Given the description of an element on the screen output the (x, y) to click on. 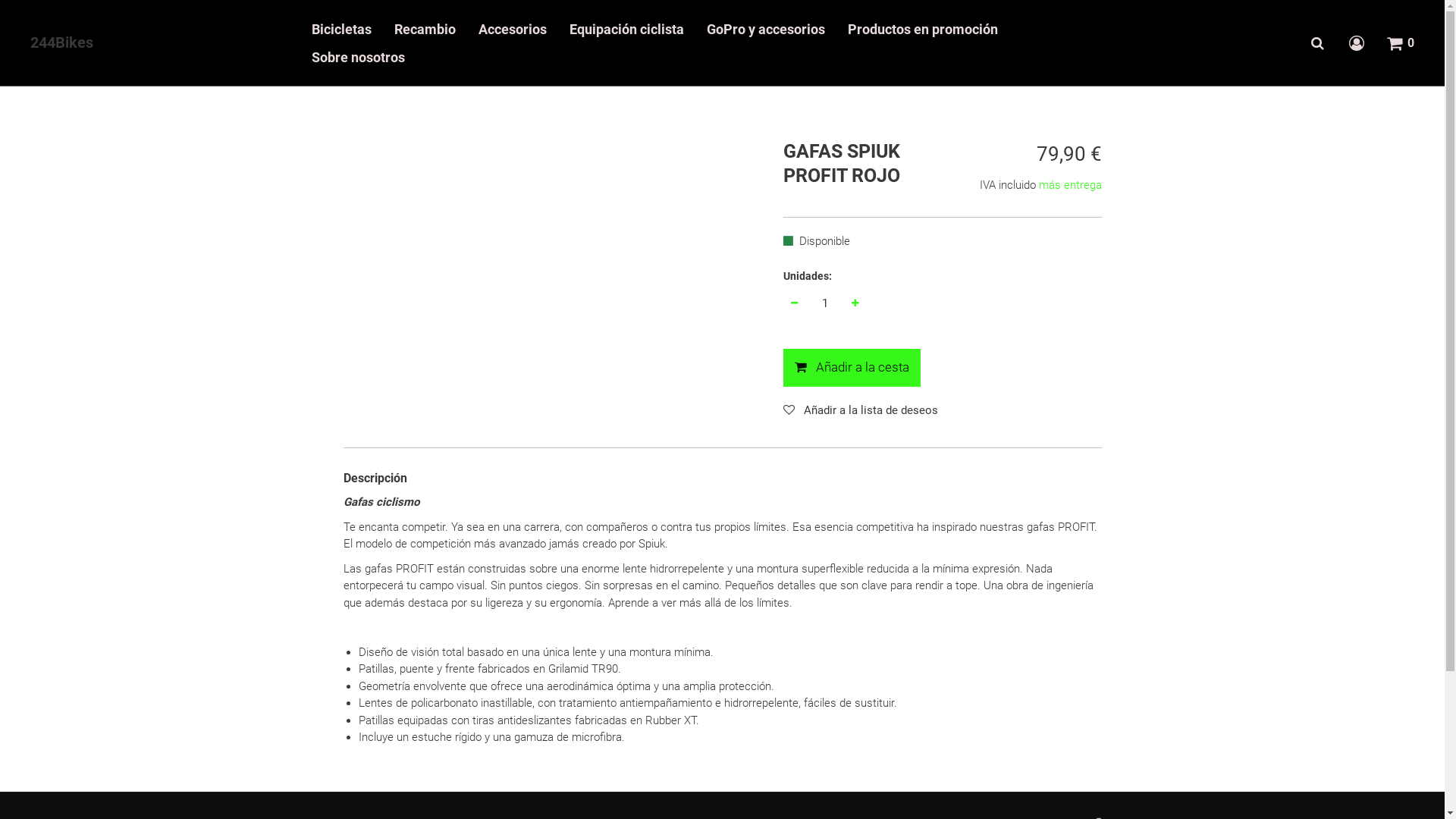
GoPro y accesorios Element type: text (765, 29)
Bicicletas Element type: text (341, 29)
Sobre nosotros Element type: text (357, 57)
244Bikes Element type: text (61, 43)
Recambio Element type: text (424, 29)
Accesorios Element type: text (512, 29)
Buscar Element type: text (1317, 43)
